Given the description of an element on the screen output the (x, y) to click on. 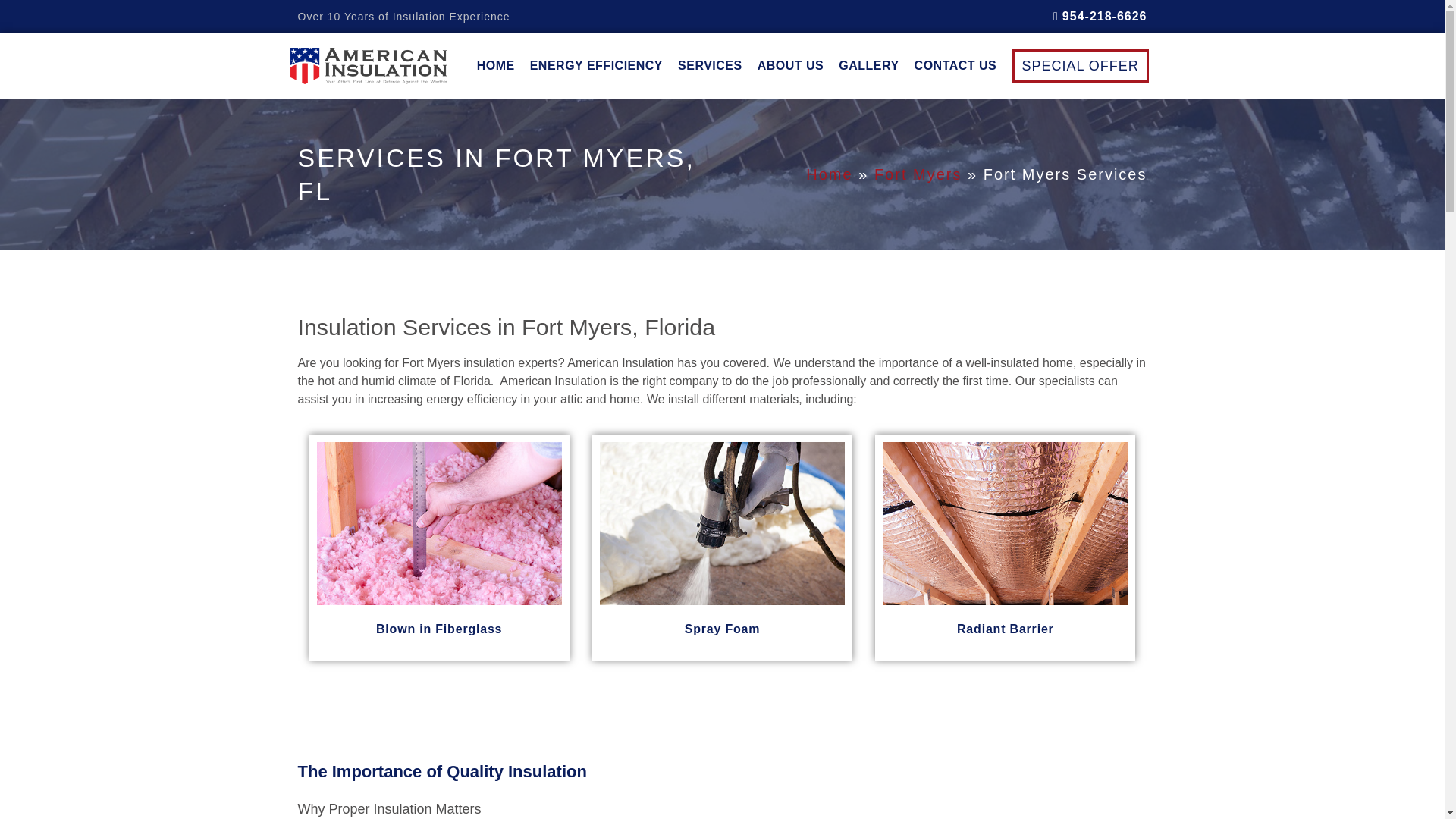
HOME (496, 65)
SERVICES (710, 65)
SPECIAL OFFER (1079, 65)
Spray Foam (722, 628)
CONTACT US (955, 65)
Blown in Fiberglass (438, 628)
ENERGY EFFICIENCY (595, 65)
Home (828, 174)
GALLERY (868, 65)
ABOUT US (790, 65)
954-218-6626 (1099, 16)
Fort Myers (918, 174)
